Given the description of an element on the screen output the (x, y) to click on. 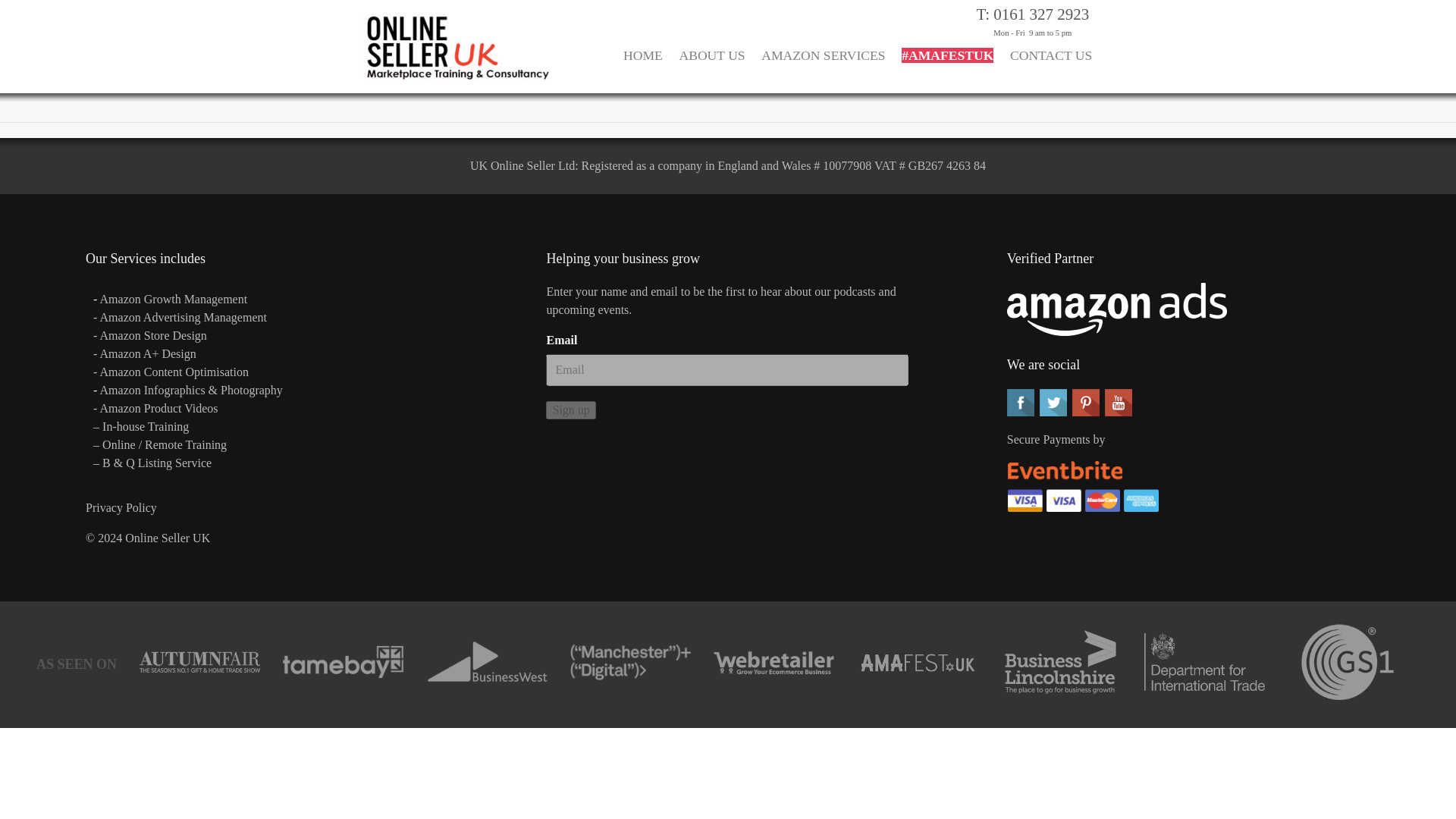
HOME (641, 64)
Privacy Policy (121, 507)
- Amazon Advertising Management (179, 317)
Sign up (570, 410)
- Amazon Product Videos  (157, 408)
AMAZON SERVICES (822, 64)
Amazon Growth Management (173, 298)
- Amazon Store Design (149, 335)
- Amazon Content Optimisation (170, 371)
ABOUT US (712, 64)
CONTACT US (1051, 64)
